Given the description of an element on the screen output the (x, y) to click on. 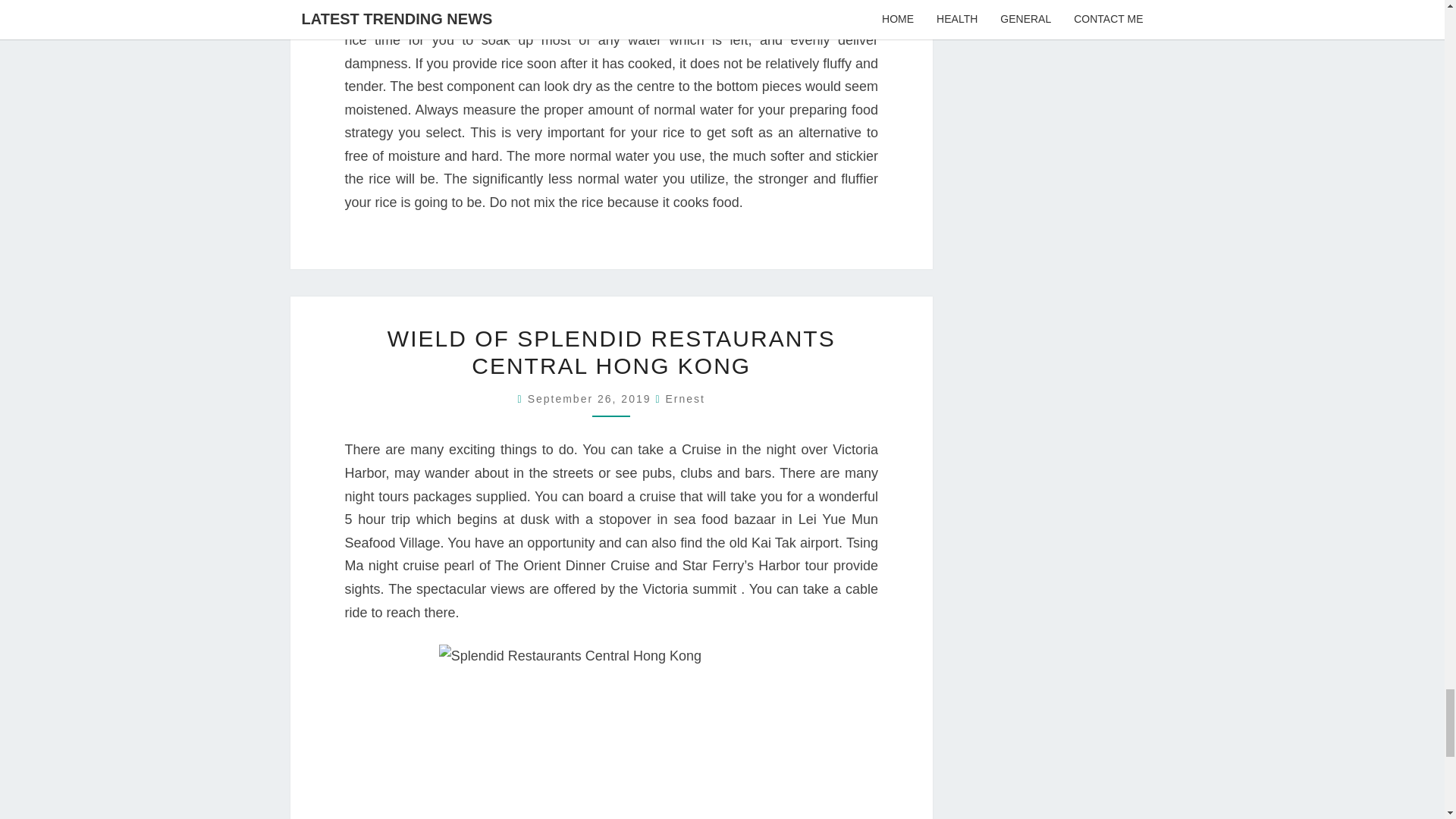
WIELD OF SPLENDID RESTAURANTS CENTRAL HONG KONG (611, 351)
September 26, 2019 (591, 398)
6:05 am (591, 398)
View all posts by Ernest (684, 398)
Ernest (684, 398)
